Given the description of an element on the screen output the (x, y) to click on. 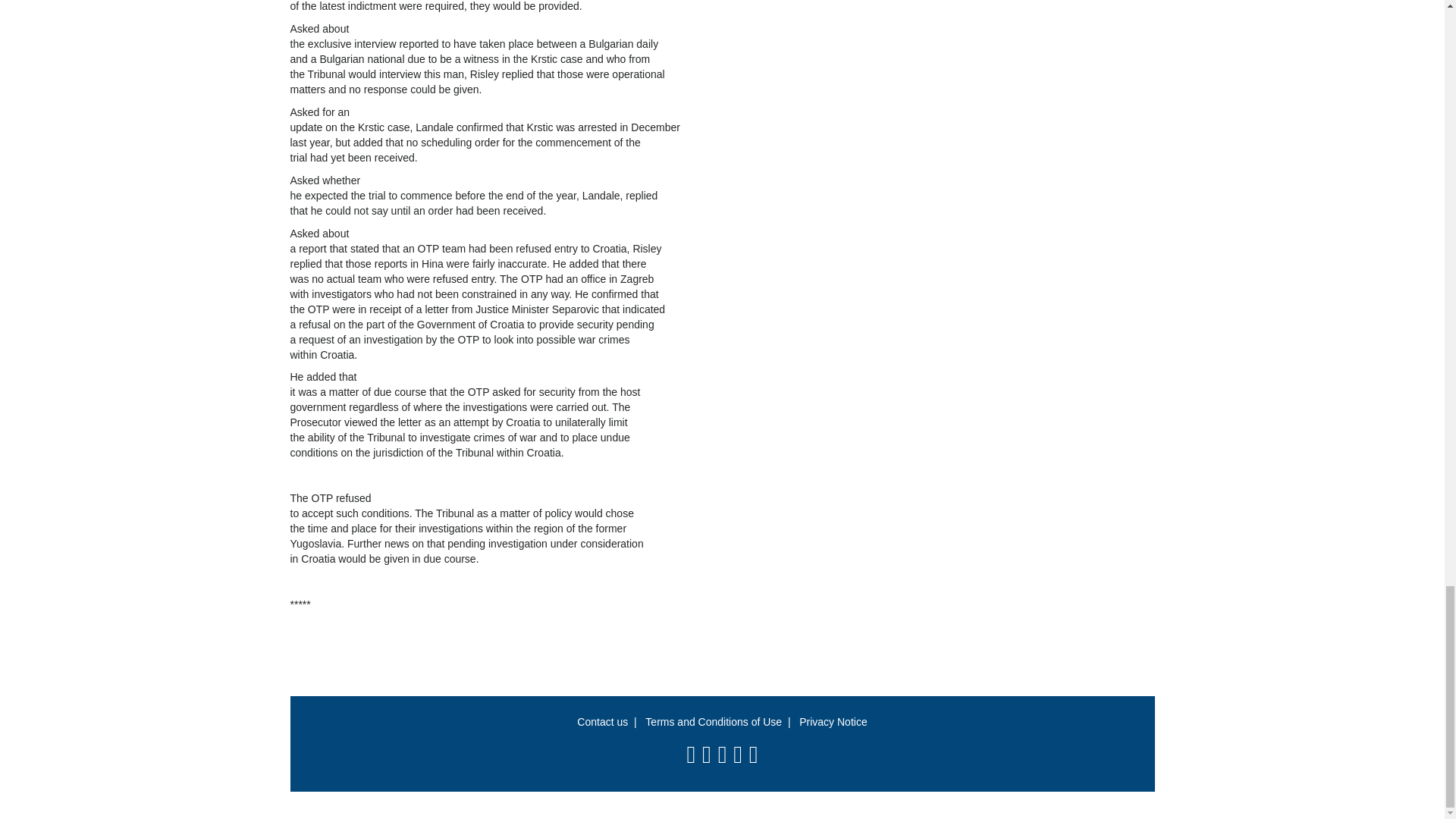
Contact us (601, 721)
Terms and Conditions of Use (713, 721)
Privacy Notice (832, 721)
